Given the description of an element on the screen output the (x, y) to click on. 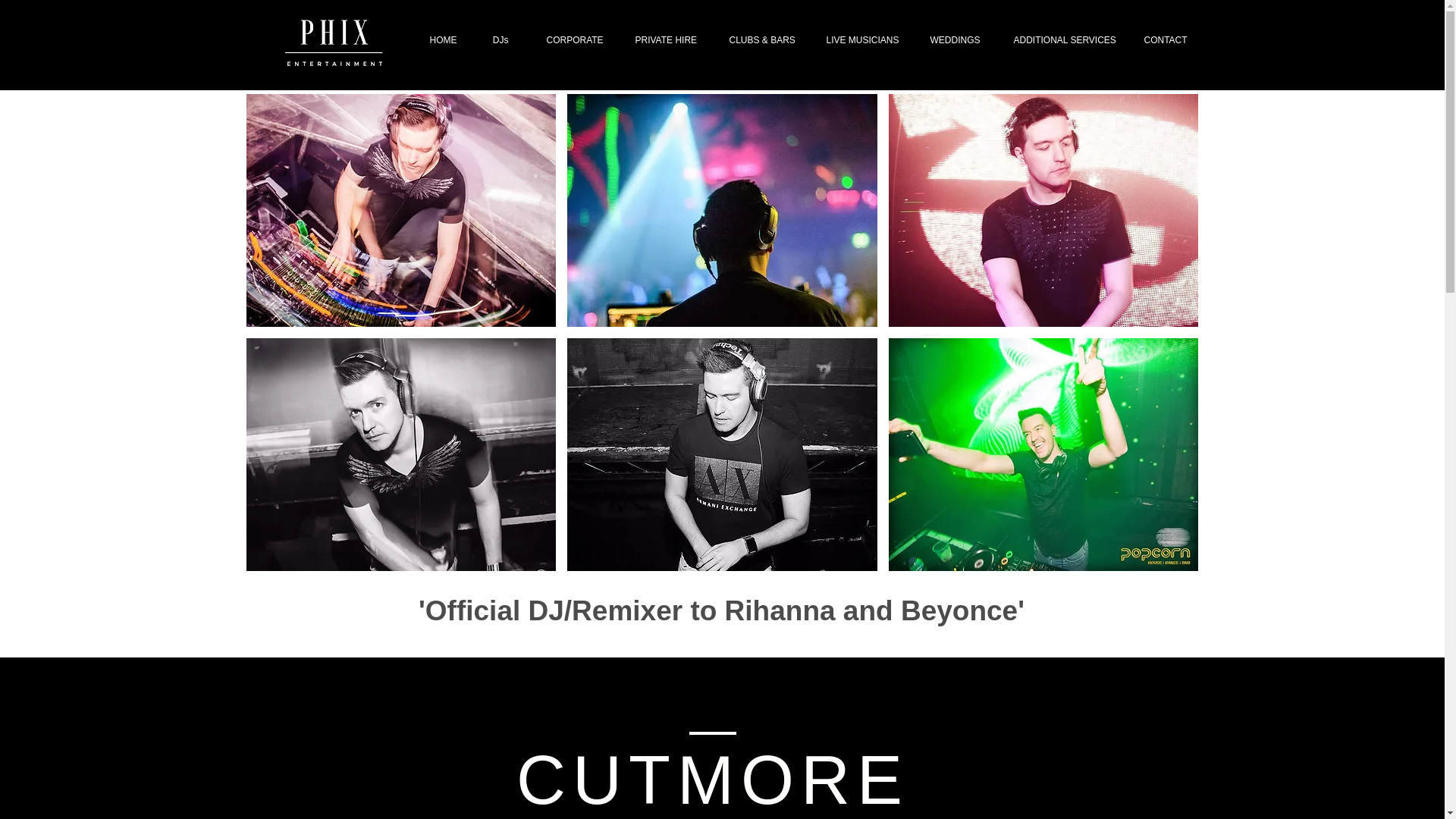
ADDITIONAL SERVICES (1059, 40)
CORPORATE (571, 40)
CONTACT (1164, 40)
LIVE MUSICIANS (858, 40)
DJs (500, 40)
PRIVATE HIRE (662, 40)
HOME (442, 40)
WEDDINGS (952, 40)
